Given the description of an element on the screen output the (x, y) to click on. 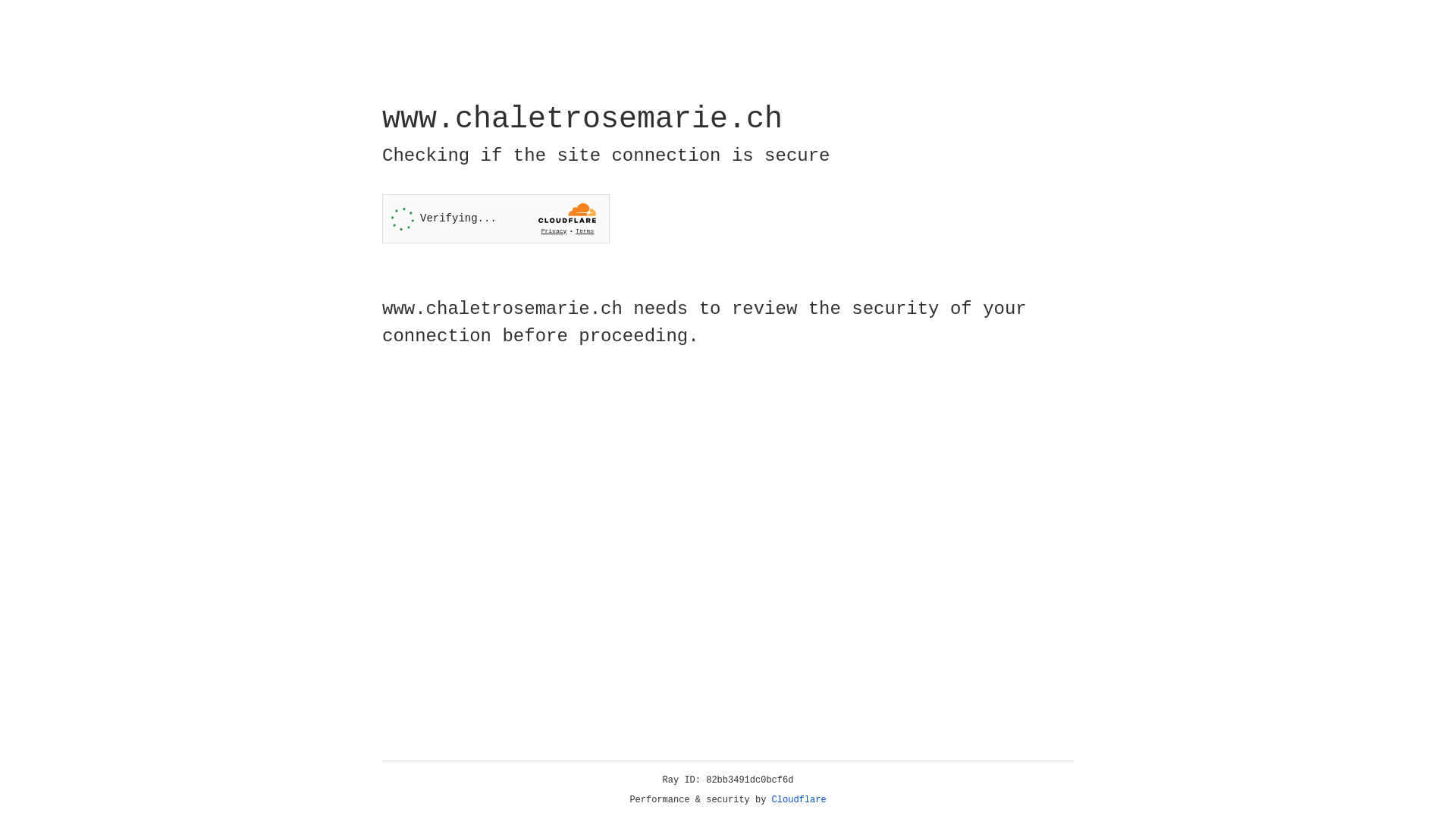
Cloudflare Element type: text (798, 799)
Widget containing a Cloudflare security challenge Element type: hover (495, 218)
